Given the description of an element on the screen output the (x, y) to click on. 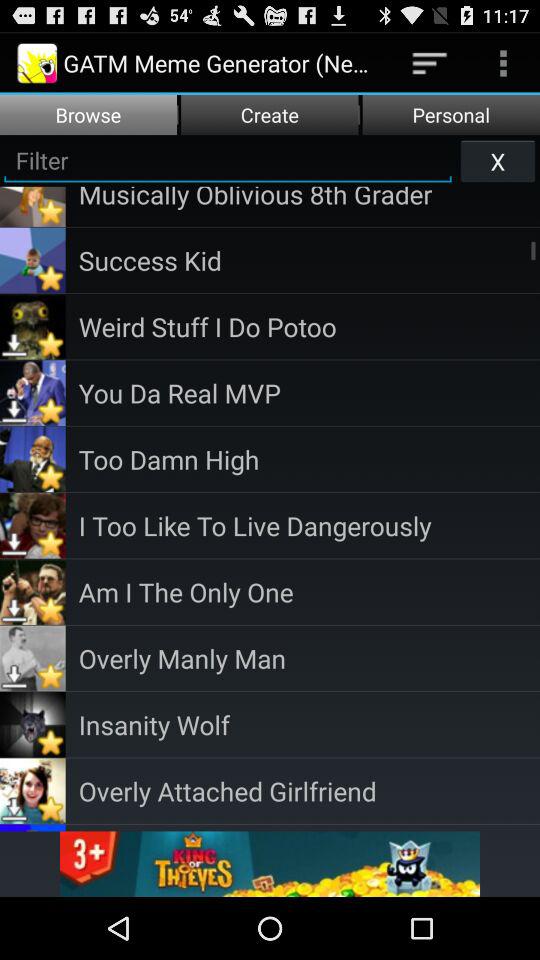
turn on i too like (309, 525)
